Given the description of an element on the screen output the (x, y) to click on. 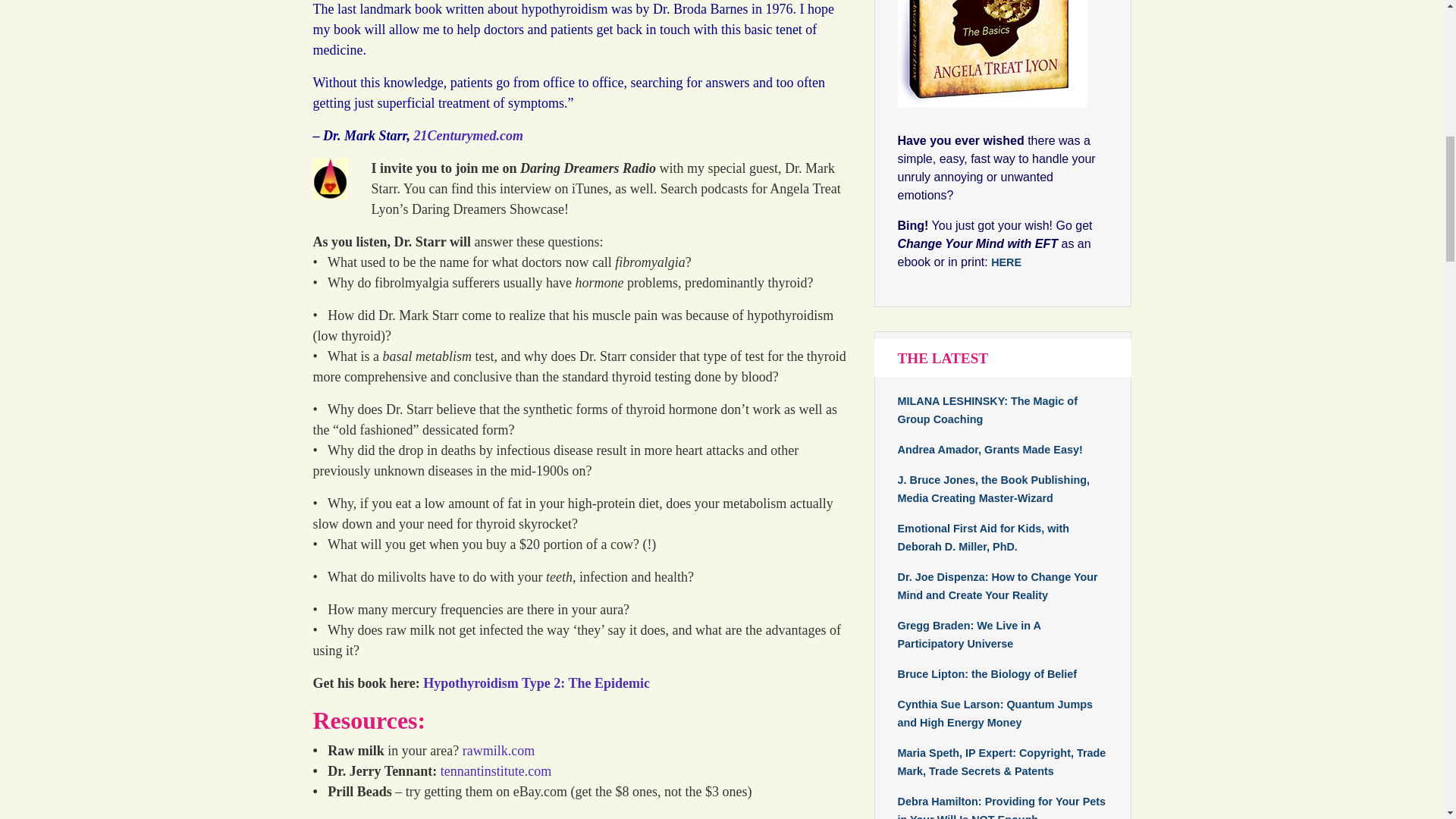
Dr. Mark Starr, Expert on Hypothyroidism (468, 135)
tennantinstitute.com (496, 770)
Why is raw milk so important? (498, 750)
rawmilk.com (498, 750)
Hypothyroidism Type 2: The Epidemic (536, 683)
Dr. Jerry Tennant (496, 770)
21Centurymed.com (468, 135)
